Given the description of an element on the screen output the (x, y) to click on. 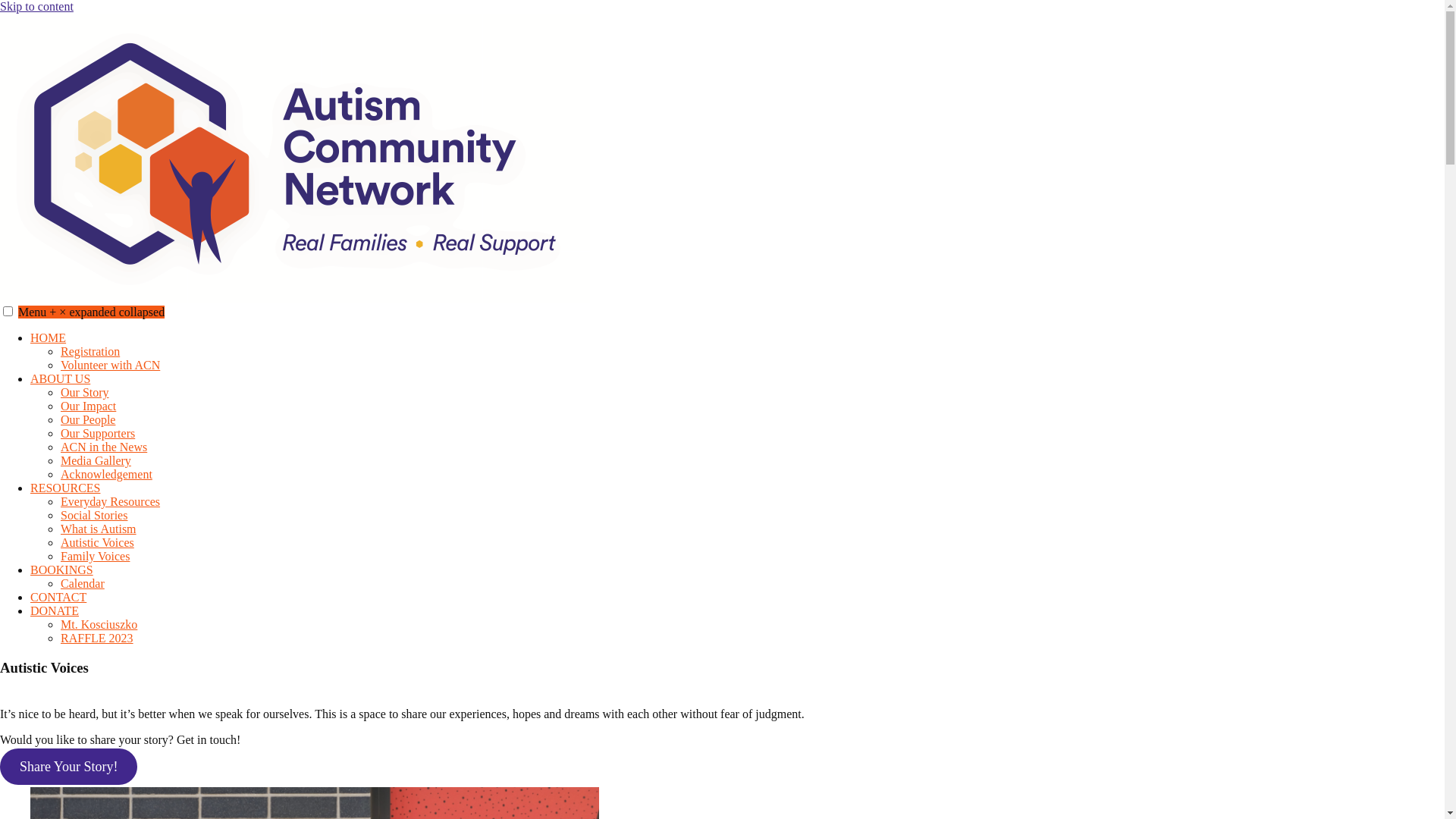
Autistic Voices Element type: text (97, 542)
ABOUT US Element type: text (60, 378)
DONATE Element type: text (54, 610)
Volunteer with ACN Element type: text (110, 364)
CONTACT Element type: text (58, 596)
Family Voices Element type: text (94, 555)
Calendar Element type: text (82, 583)
Our Story Element type: text (84, 391)
Registration Element type: text (89, 351)
HOME Element type: text (47, 337)
BOOKINGS Element type: text (61, 569)
Our Supporters Element type: text (97, 432)
RAFFLE 2023 Element type: text (96, 637)
RESOURCES Element type: text (65, 487)
Everyday Resources Element type: text (110, 501)
Our People Element type: text (87, 419)
Media Gallery Element type: text (95, 460)
What is Autism Element type: text (98, 528)
Acknowledgement Element type: text (106, 473)
ACN in the News Element type: text (103, 446)
Social Stories Element type: text (93, 514)
Mt. Kosciuszko Element type: text (98, 624)
Skip to content Element type: text (36, 6)
Our Impact Element type: text (88, 405)
Share Your Story! Element type: text (68, 766)
